Given the description of an element on the screen output the (x, y) to click on. 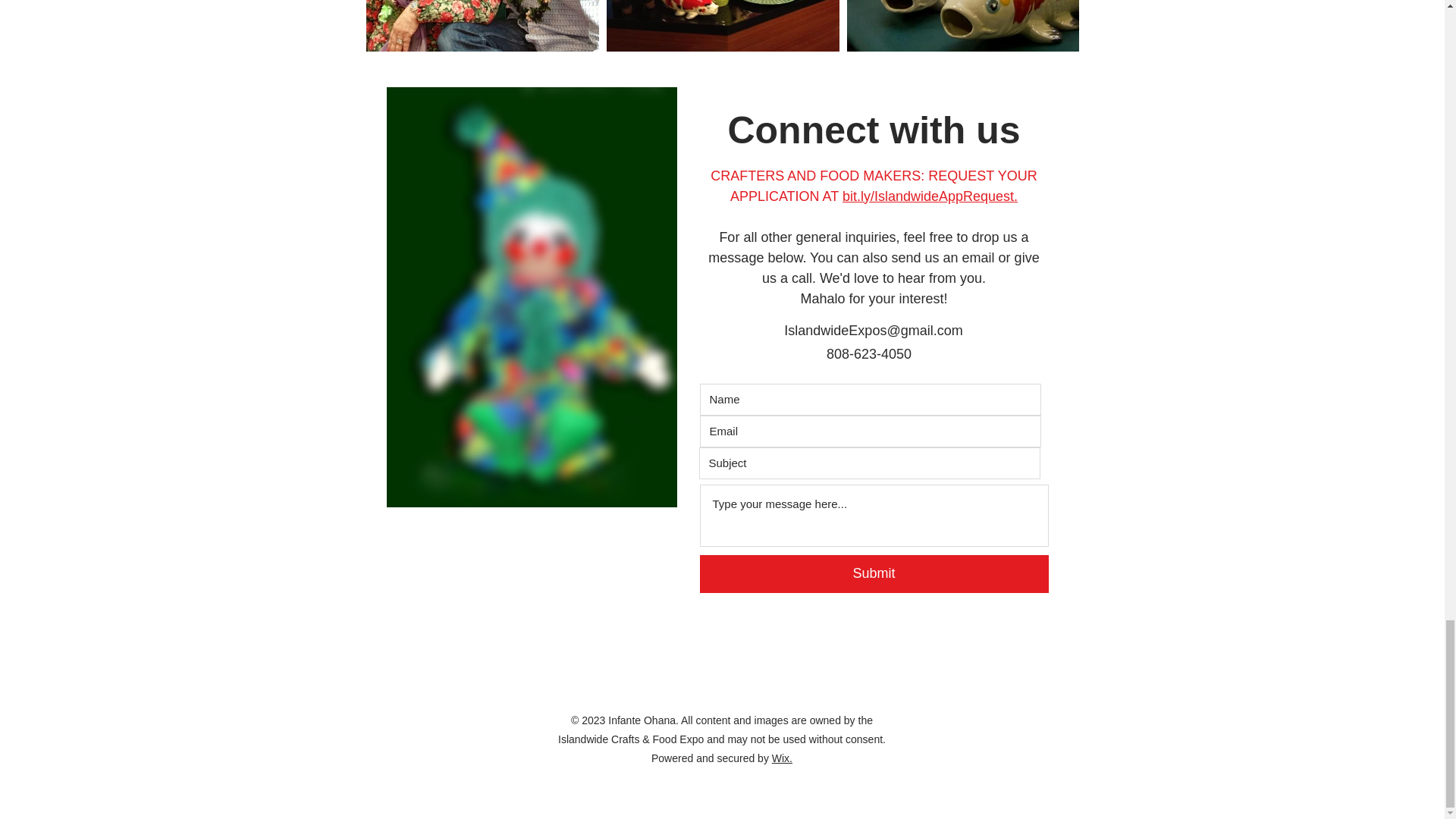
Wix. (781, 758)
Submit (873, 573)
